Given the description of an element on the screen output the (x, y) to click on. 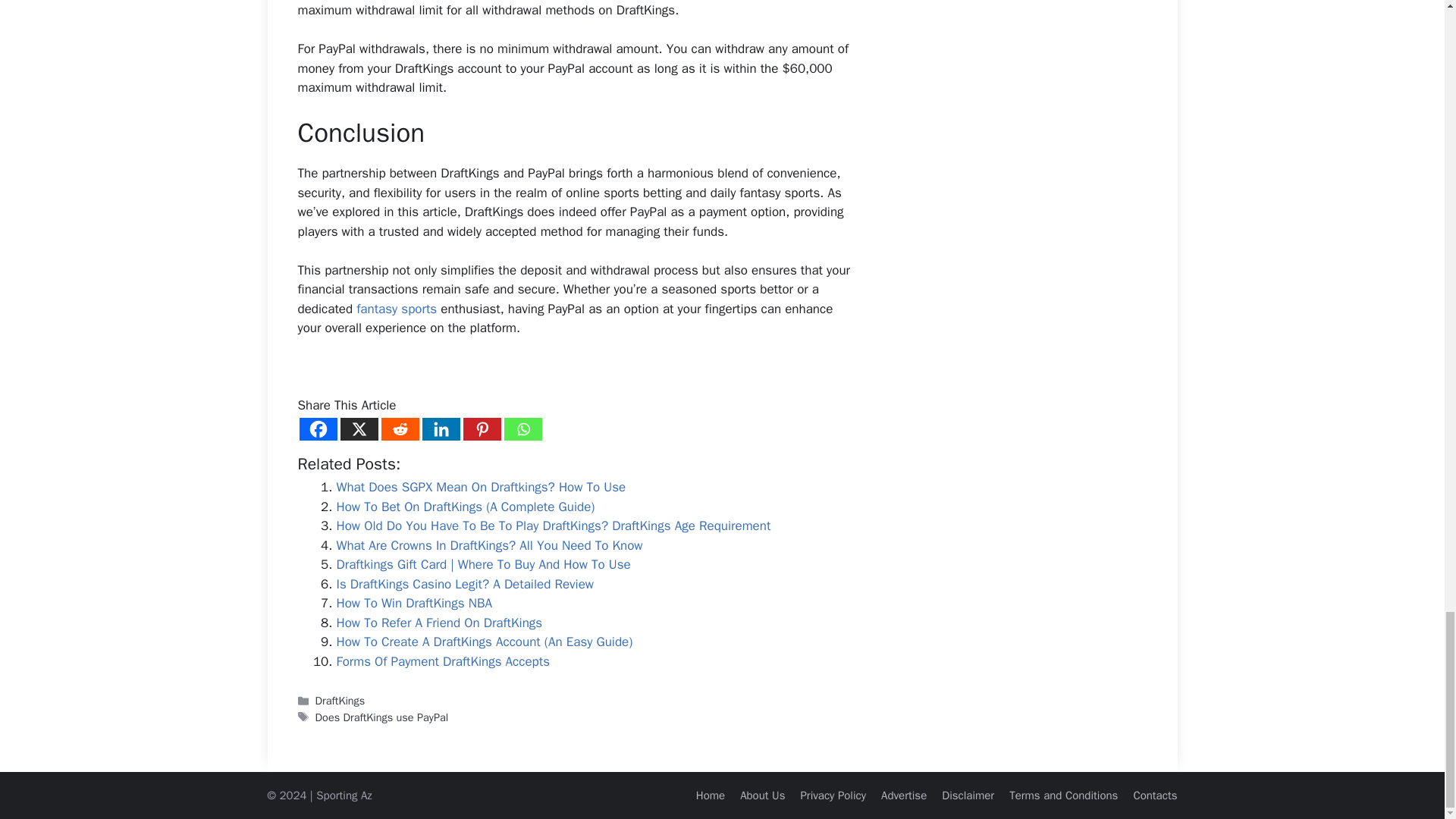
What Does SGPX Mean On Draftkings? How To Use (481, 487)
How To Win DraftKings NBA (414, 602)
DraftKings (340, 700)
What Does SGPX Mean On Draftkings? How To Use (481, 487)
Whatsapp (522, 428)
fantasy sports (394, 308)
What Are Crowns In DraftKings? All You Need To Know (489, 545)
Pinterest (481, 428)
What Are Crowns In DraftKings? All You Need To Know (489, 545)
